Given the description of an element on the screen output the (x, y) to click on. 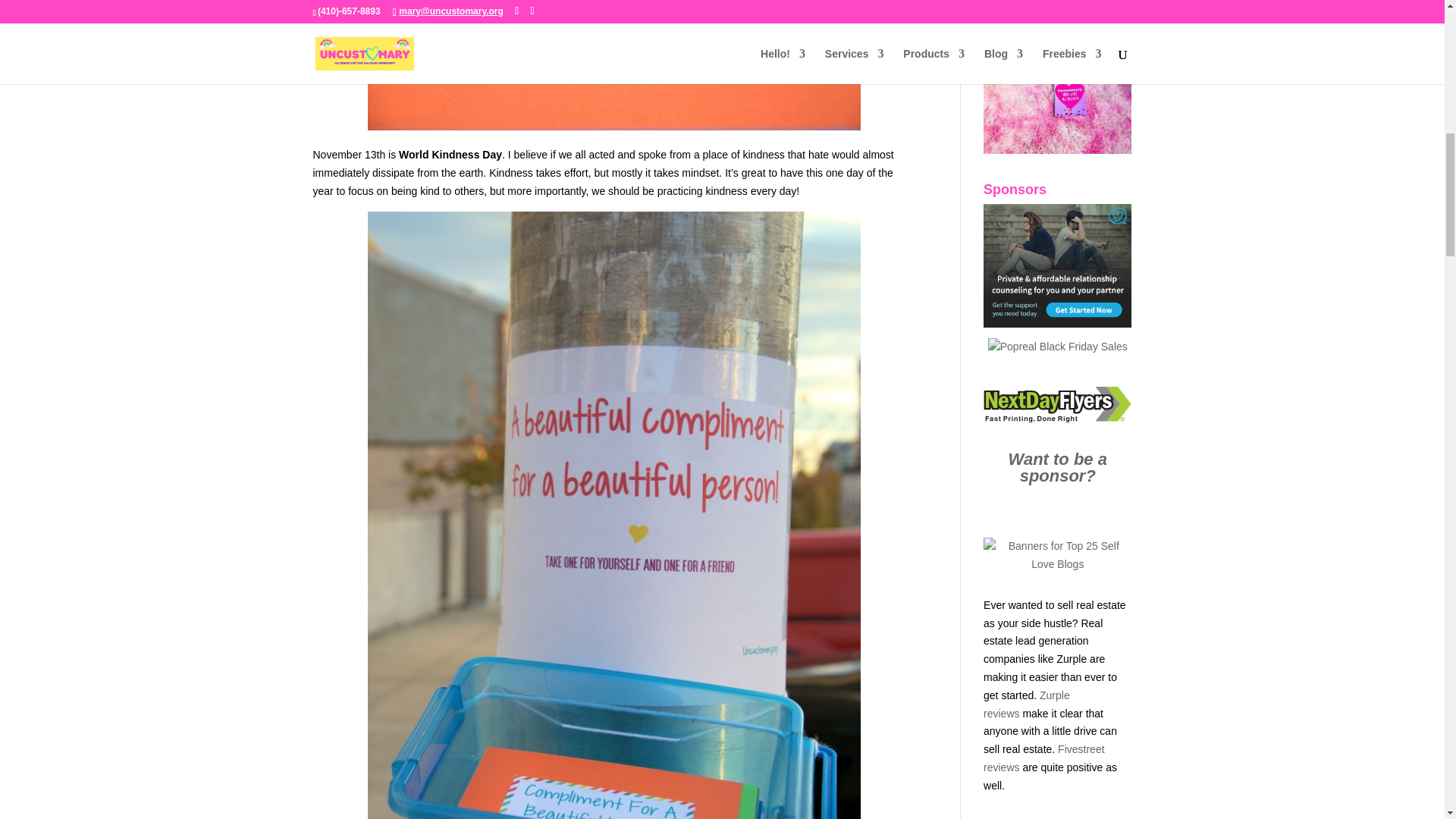
NextDayFlyers (1057, 404)
Popreal Black Friday Sales (1057, 346)
Banners for Top 25 Self Love Blogs (1057, 563)
